Given the description of an element on the screen output the (x, y) to click on. 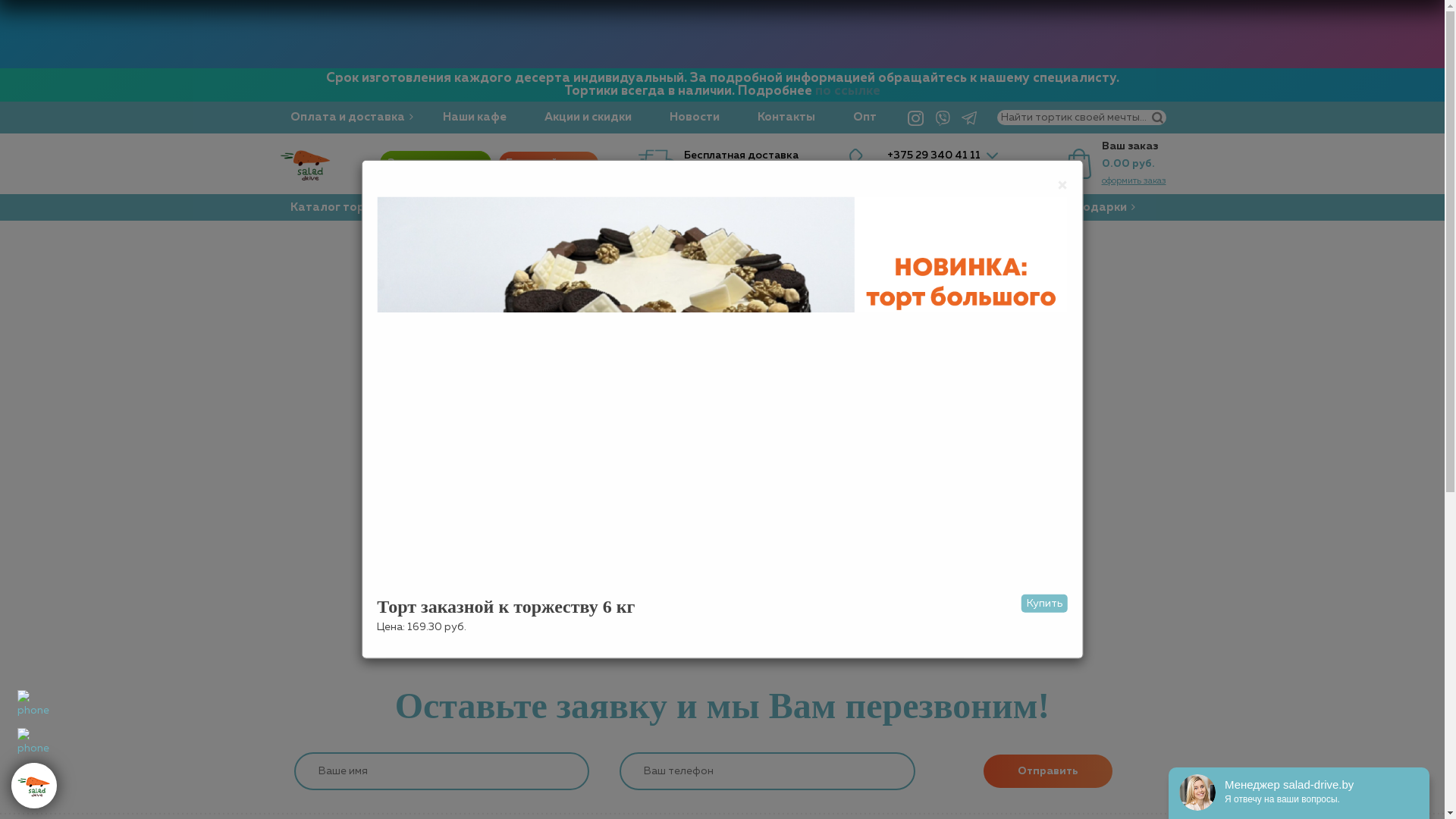
Telegram Element type: hover (969, 117)
+375 29 340 41 11 Element type: text (933, 155)
Instagram Element type: hover (915, 117)
Home Page Element type: text (721, 603)
Viber Element type: hover (942, 117)
